Given the description of an element on the screen output the (x, y) to click on. 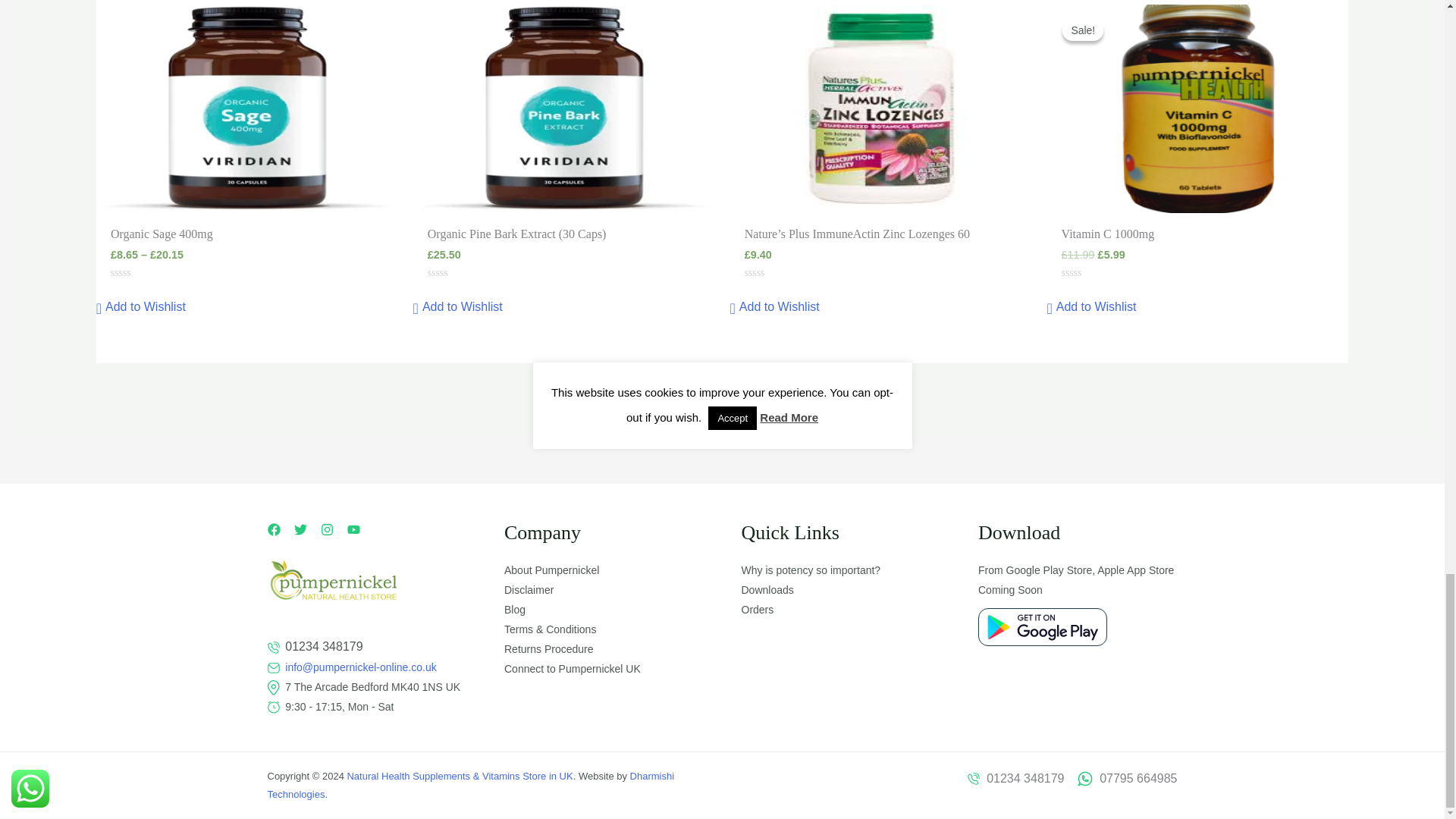
Email us (357, 666)
